Given the description of an element on the screen output the (x, y) to click on. 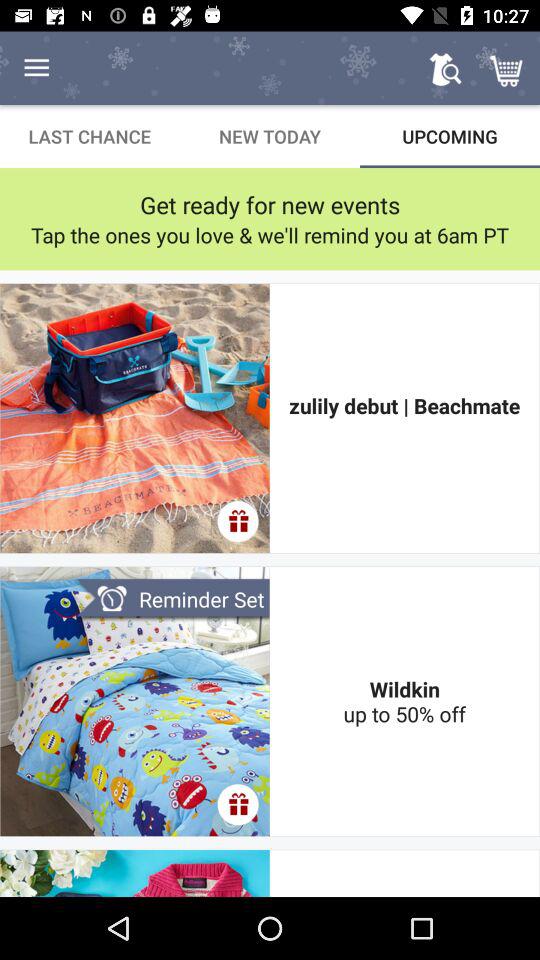
click on the first image (135, 418)
click on the 2nd gift box icon (238, 804)
